Given the description of an element on the screen output the (x, y) to click on. 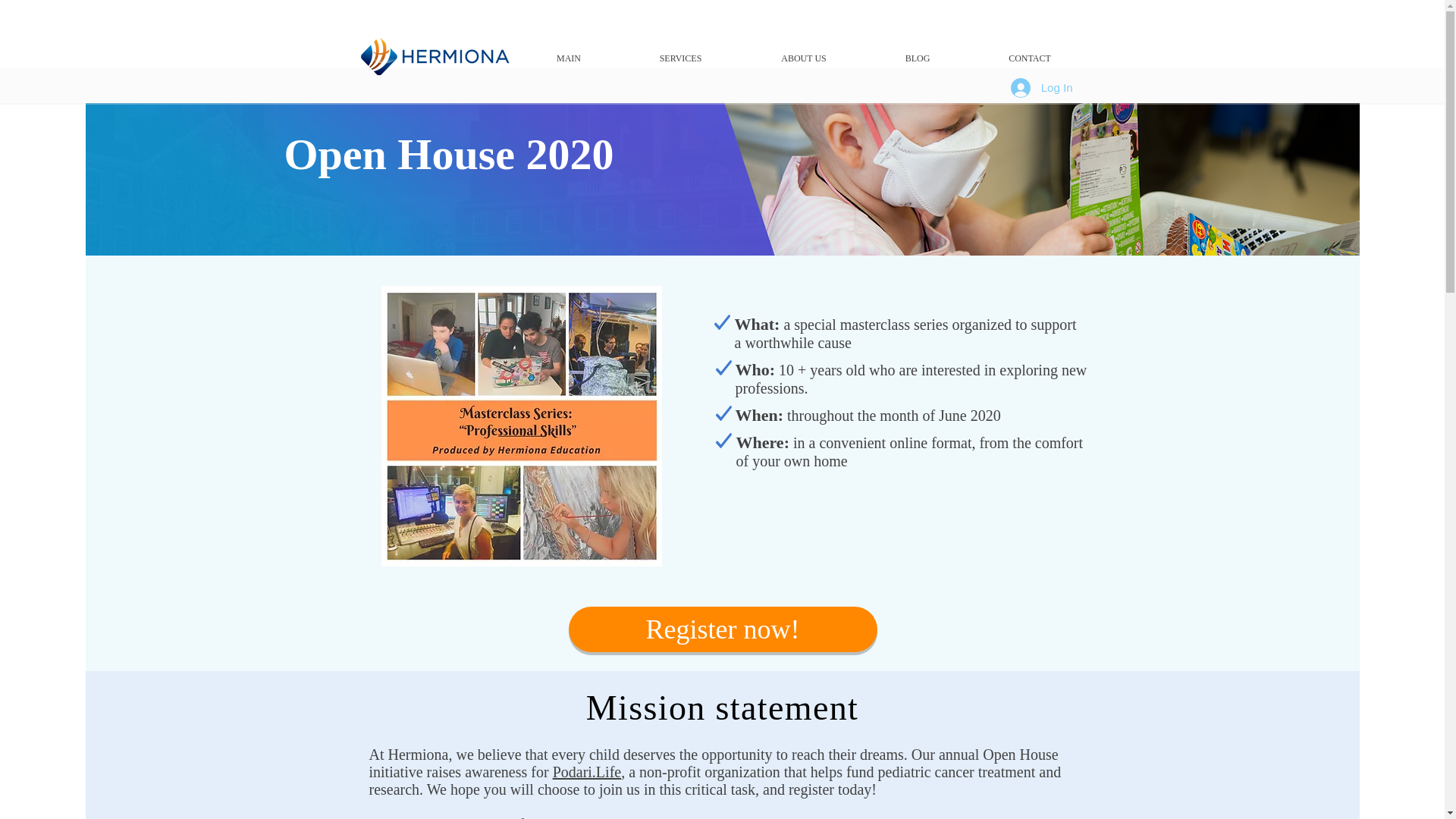
MAIN (568, 58)
CONTACT (1029, 58)
Podari.Life (587, 771)
ABOUT US (803, 58)
SERVICES (680, 58)
Log In (1041, 86)
Register now! (723, 628)
BLOG (917, 58)
